Given the description of an element on the screen output the (x, y) to click on. 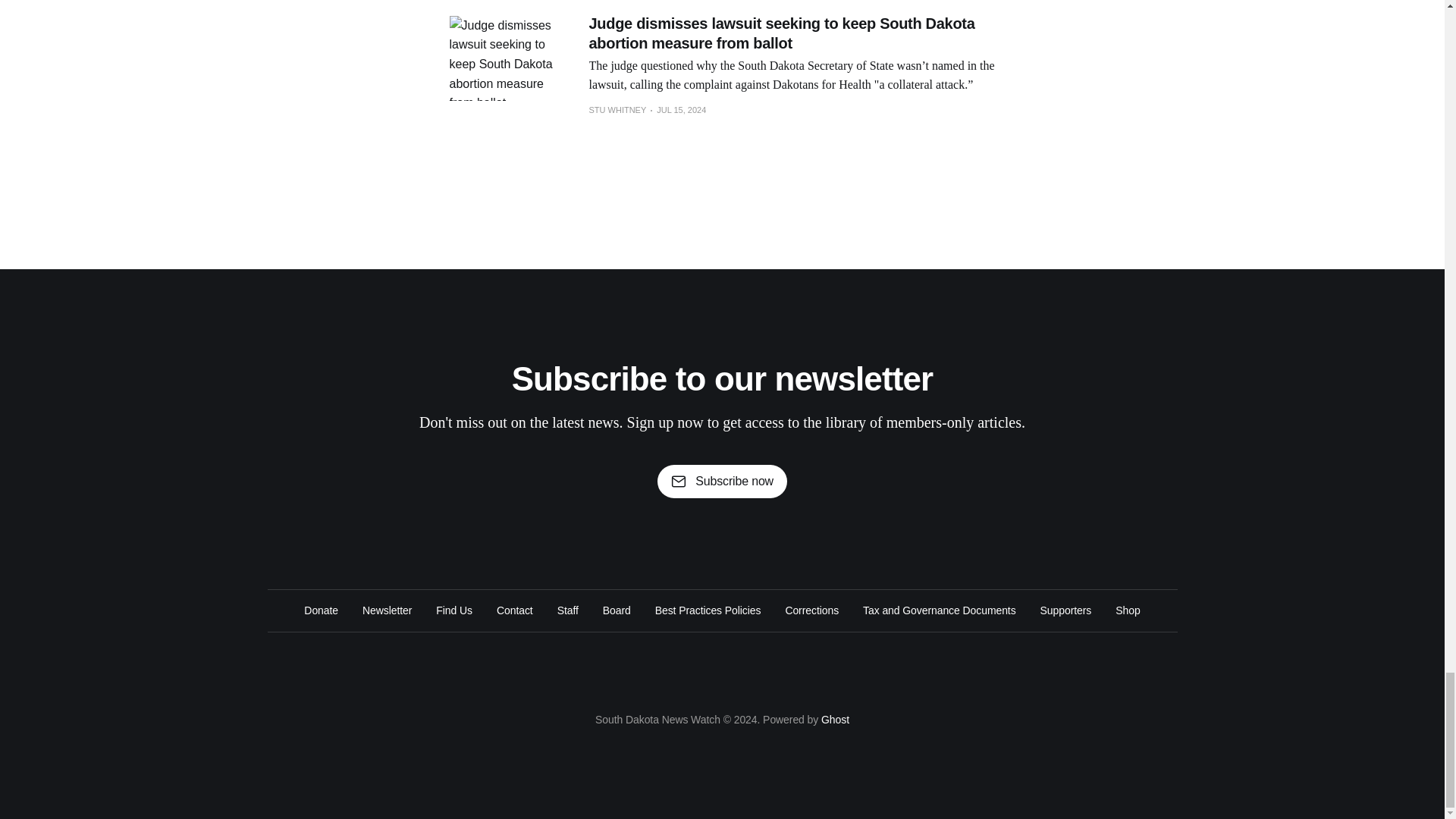
Newsletter (387, 610)
Contact (514, 610)
Subscribe now (722, 481)
Find Us (453, 610)
Board (616, 610)
Corrections (811, 610)
Tax and Governance Documents (939, 610)
Best Practices Policies (708, 610)
Shop (1127, 610)
Donate (320, 610)
Ghost (834, 719)
Staff (567, 610)
Supporters (1066, 610)
